Given the description of an element on the screen output the (x, y) to click on. 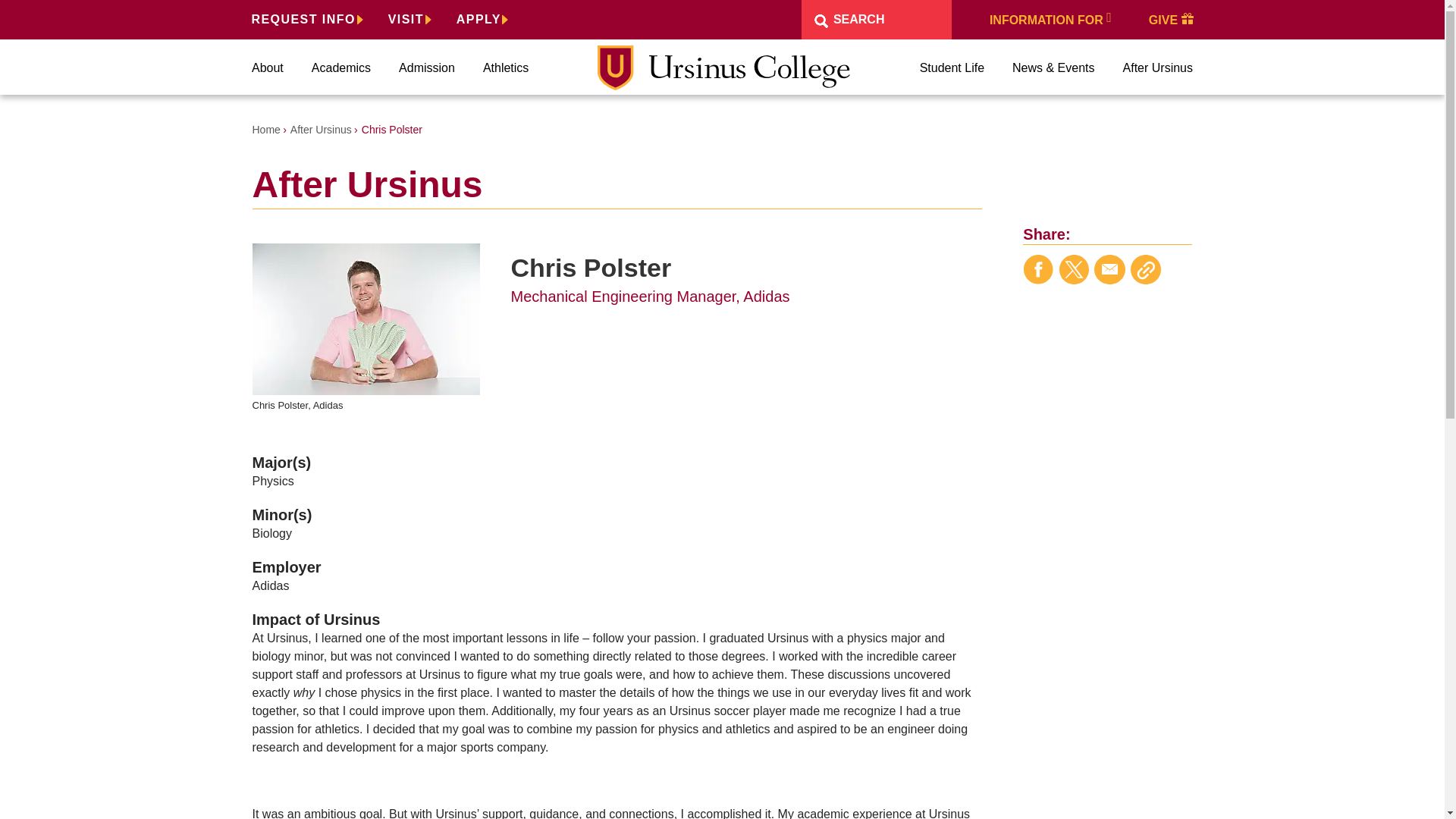
Admission (426, 67)
After Ursinus (320, 129)
APPLY (482, 19)
GIVE (1170, 19)
REQUEST INFO (306, 19)
Athletics (505, 67)
After Ursinus (1157, 67)
Home (265, 129)
INFORMATION FOR (1050, 19)
VISIT (409, 19)
